Given the description of an element on the screen output the (x, y) to click on. 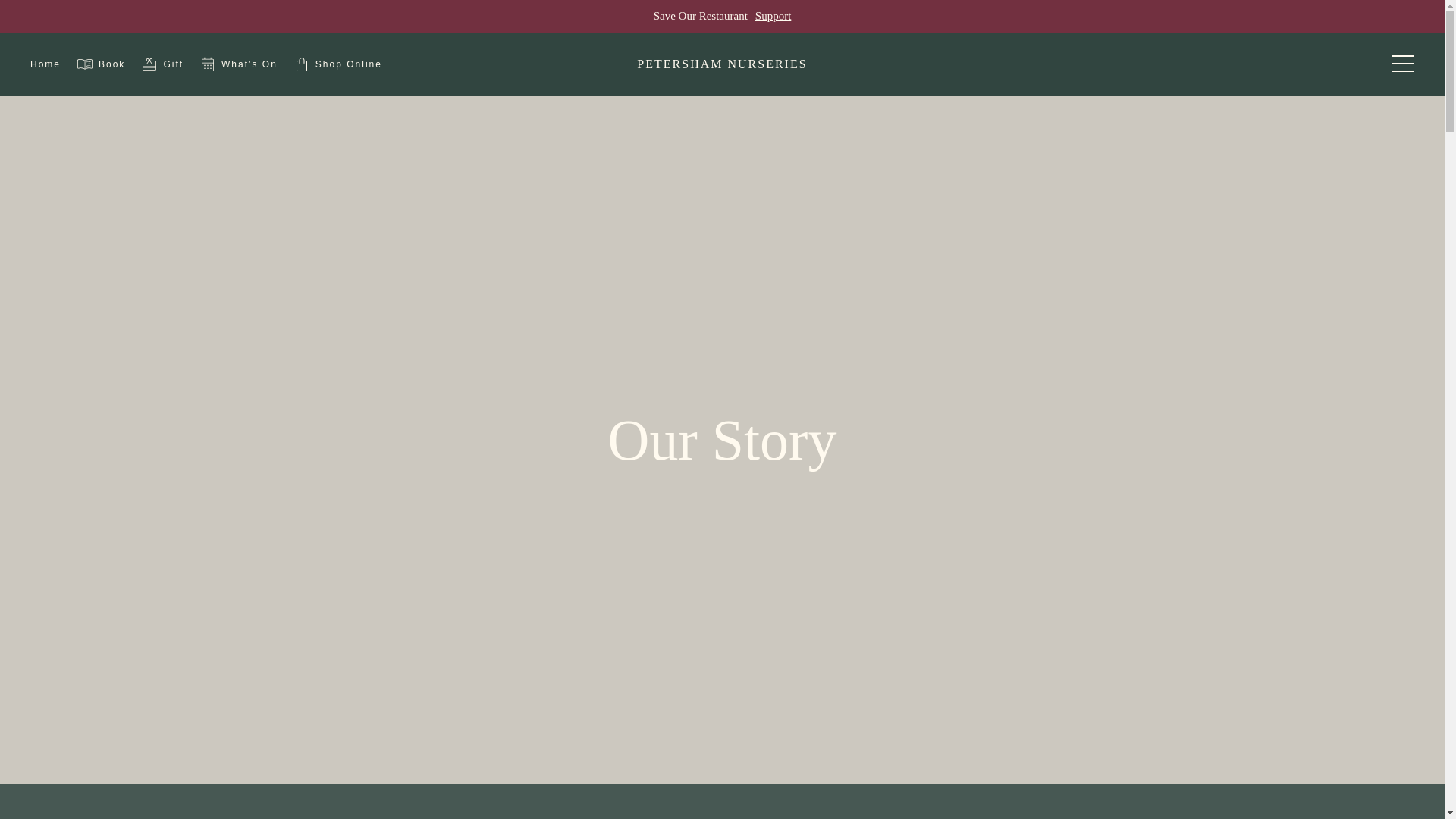
Home (45, 63)
Gift (161, 64)
Support (773, 16)
Support (773, 16)
Book (100, 64)
PETERSHAM NURSERIES (721, 63)
Shop Online (336, 64)
